Given the description of an element on the screen output the (x, y) to click on. 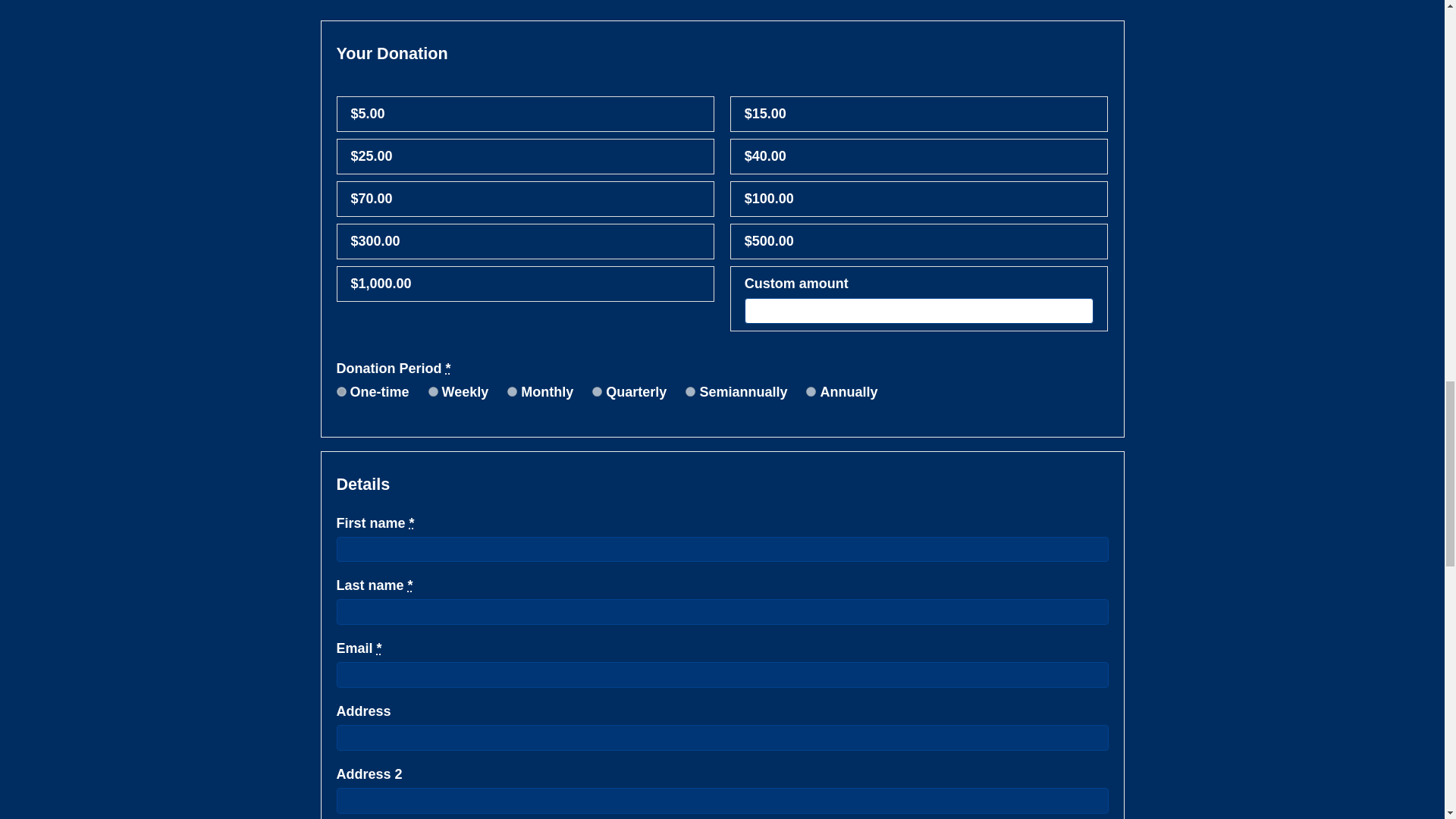
week (433, 391)
once (341, 391)
year (810, 391)
quarter (597, 391)
month (511, 391)
semiannual (690, 391)
